Given the description of an element on the screen output the (x, y) to click on. 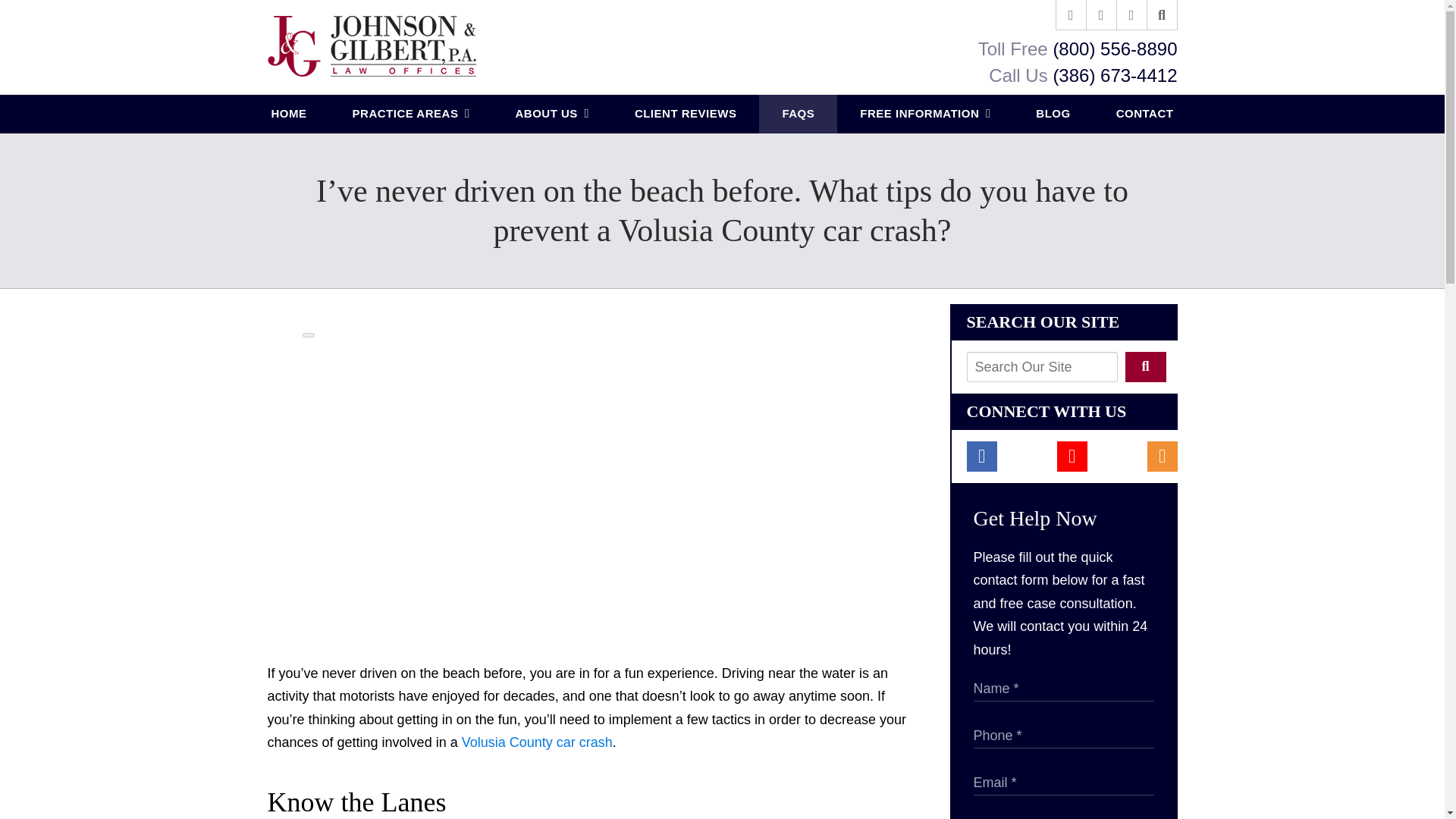
BLOG (1053, 114)
Search (1145, 367)
FREE INFORMATION (925, 114)
CLIENT REVIEWS (685, 114)
PRACTICE AREAS (411, 114)
HOME (289, 114)
CONTACT (1144, 114)
FAQS (797, 114)
Volusia County car crash (536, 742)
ABOUT US (551, 114)
Search (1161, 15)
